Given the description of an element on the screen output the (x, y) to click on. 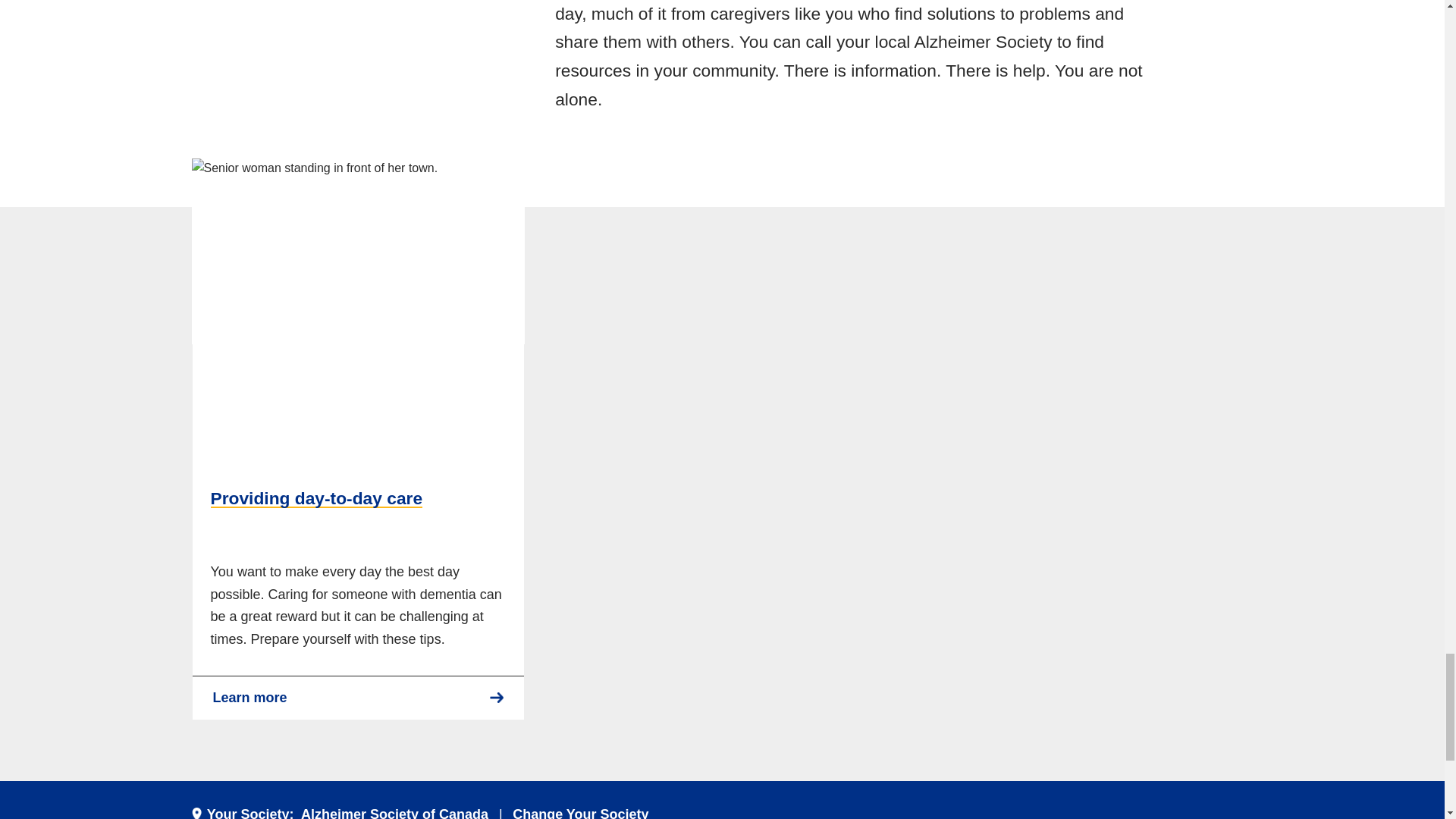
Providing day-to-day care (358, 697)
